Given the description of an element on the screen output the (x, y) to click on. 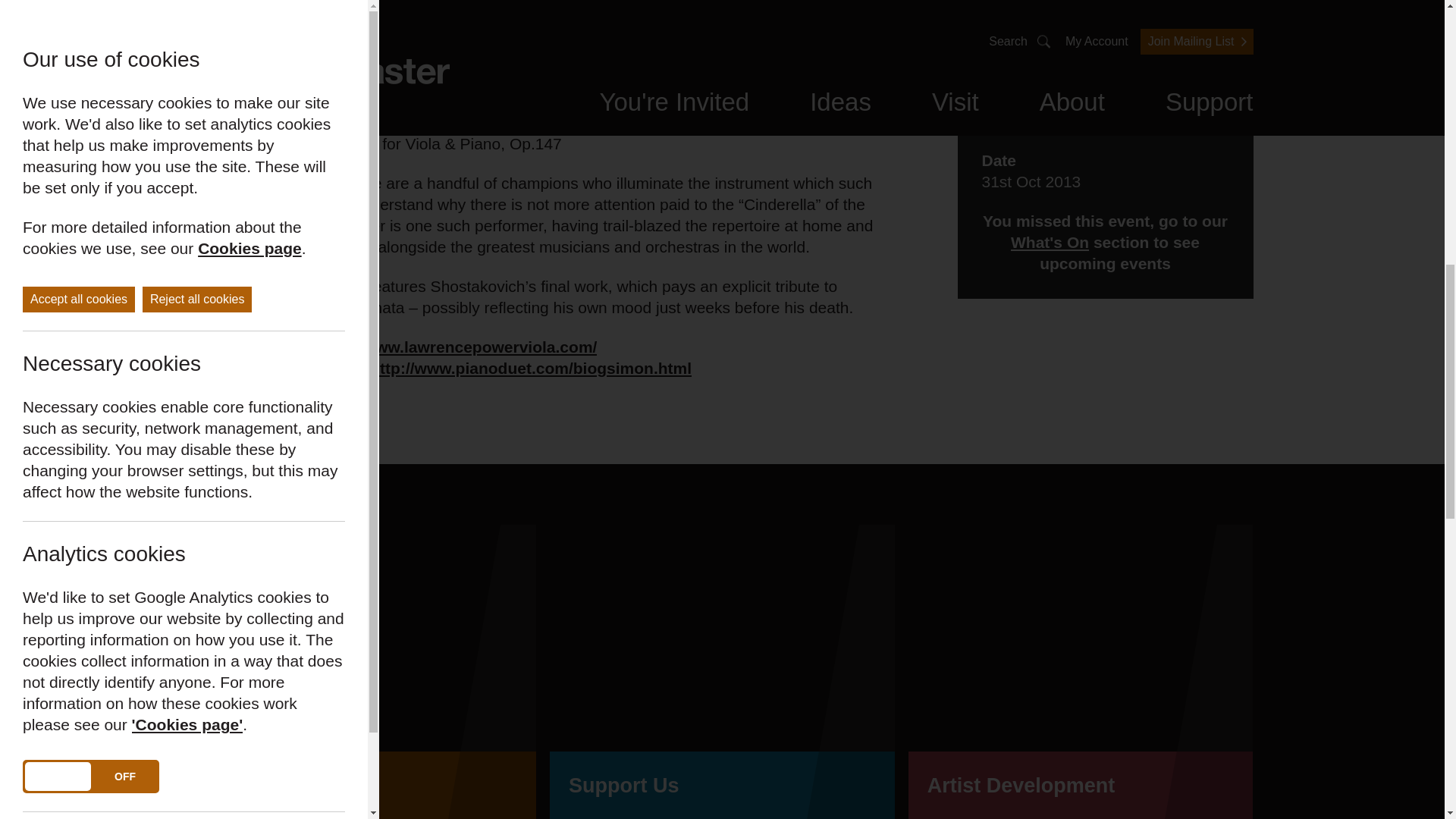
Save and close (74, 27)
Lawrence Power (457, 346)
Simon Crawford-Phillips (530, 368)
